Given the description of an element on the screen output the (x, y) to click on. 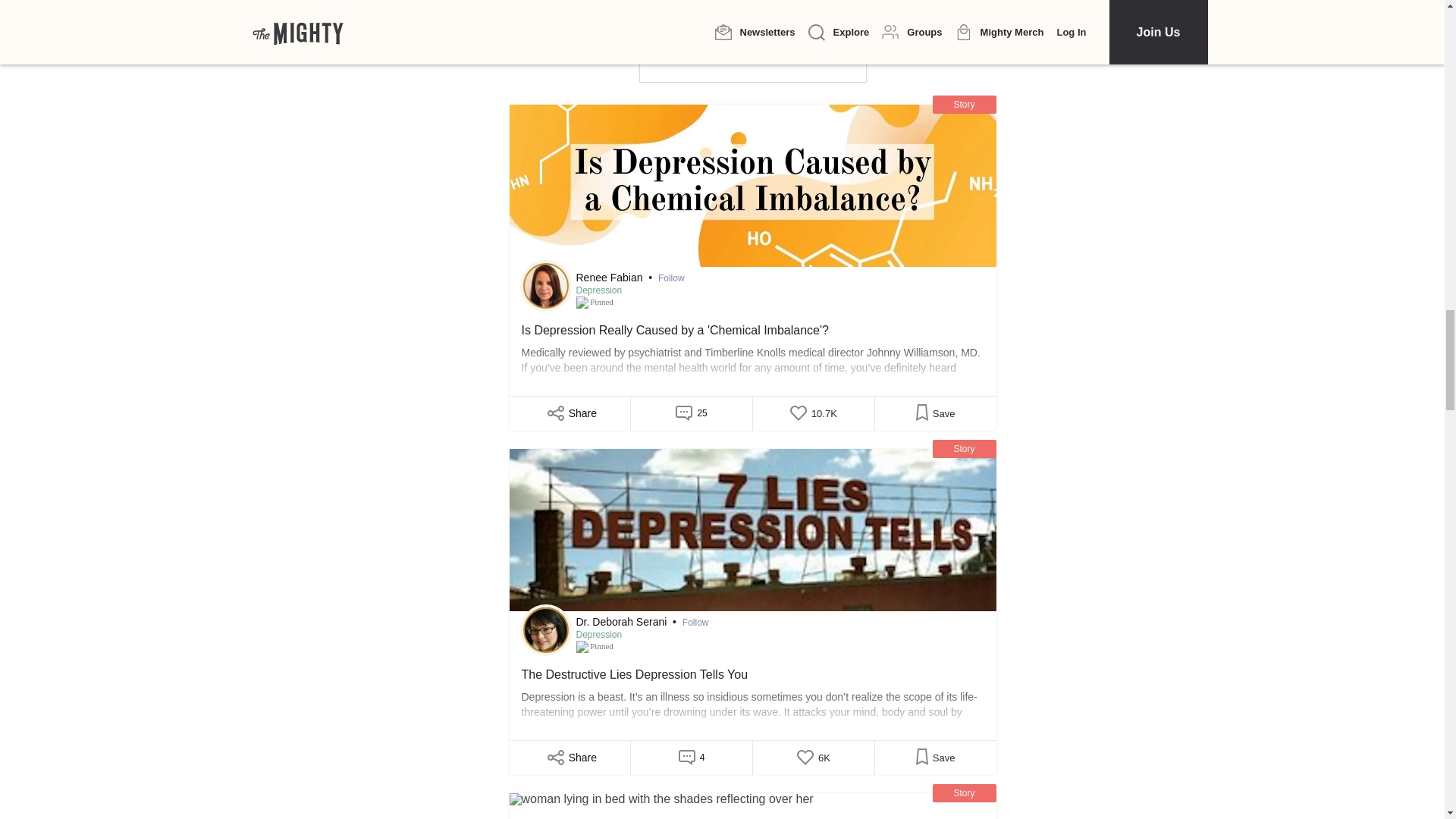
Is Depression Really Caused by a 'Chemical Imbalance'? (752, 185)
Visit Renee Fabian's profile (545, 285)
